Given the description of an element on the screen output the (x, y) to click on. 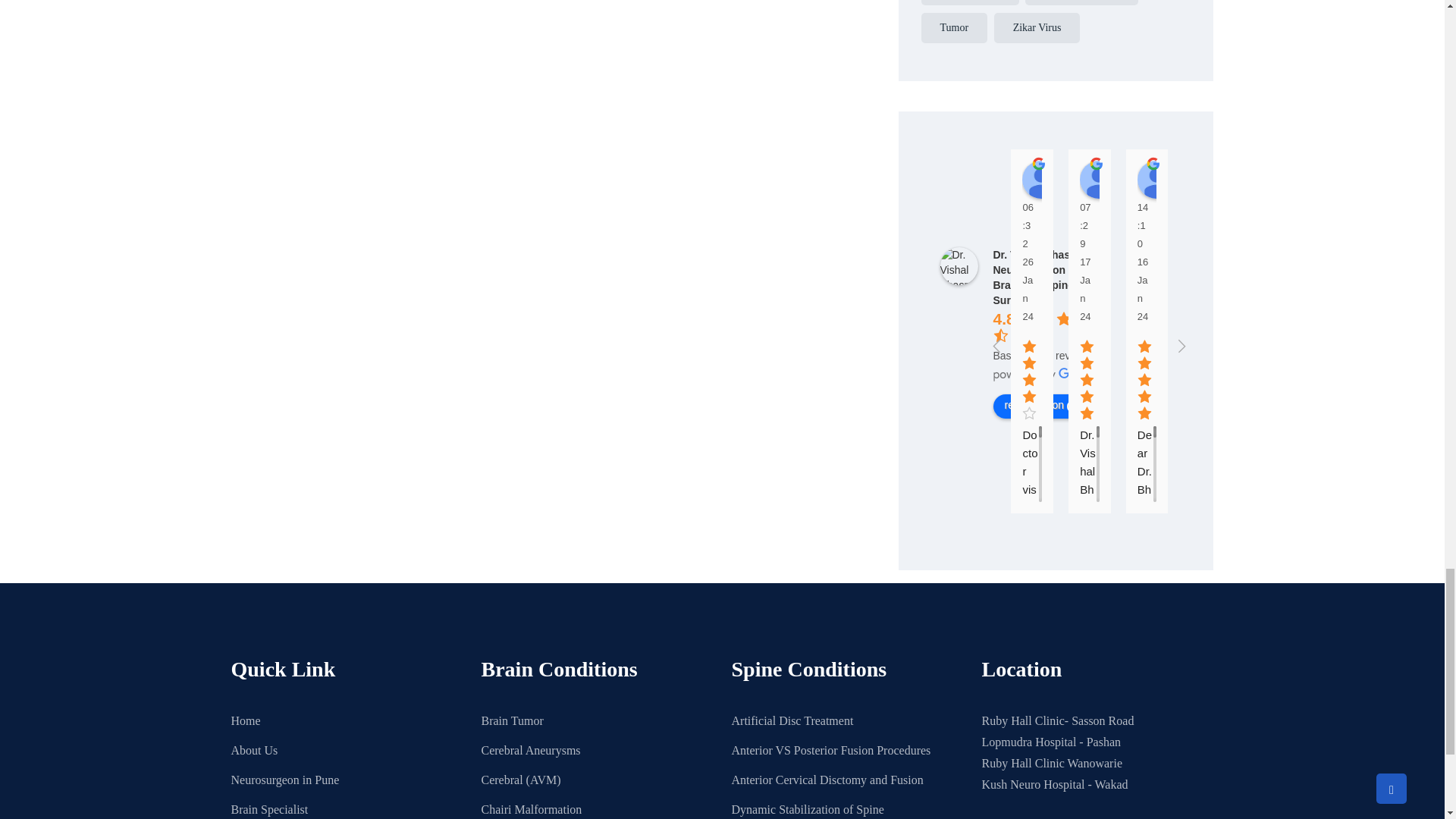
kanchan jadhav (1155, 179)
VINOD ITHAPE (1099, 179)
Dattatray Jagtap (1271, 179)
Harshika Nigam (1328, 179)
Shubham Shirnath (1386, 179)
powered by Google (1047, 374)
sainee singh (1212, 179)
Sangita Goswami (1040, 179)
